Given the description of an element on the screen output the (x, y) to click on. 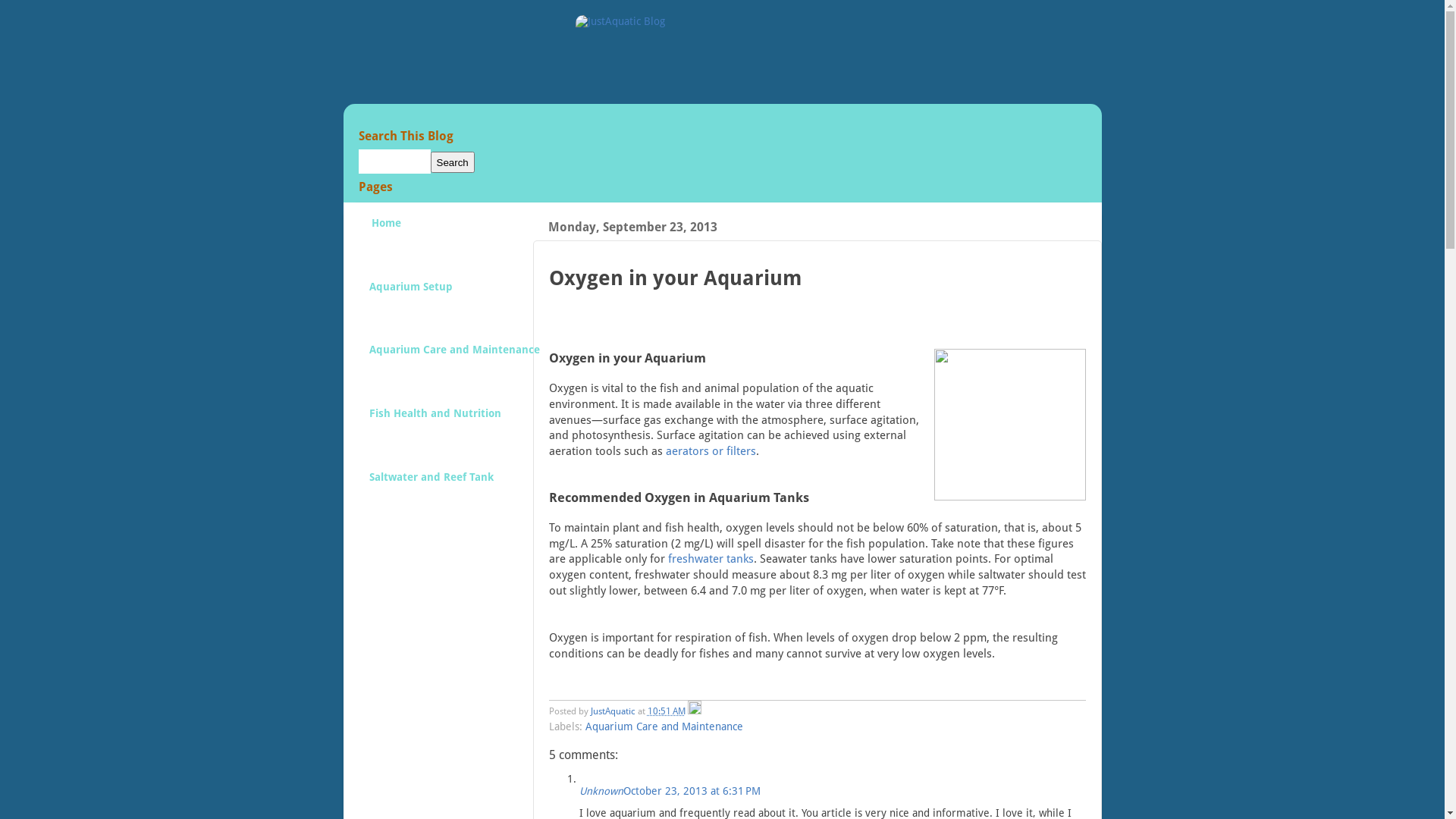
Saltwater and Reef Tank Element type: text (430, 489)
Aquarium Care and Maintenance Element type: text (664, 726)
Fish Health and Nutrition Element type: text (434, 426)
JustAquatic Element type: text (613, 711)
Home Element type: text (384, 236)
search Element type: hover (452, 161)
Edit Post Element type: hover (693, 710)
search Element type: hover (393, 161)
freshwater tanks Element type: text (710, 558)
Unknown Element type: text (601, 790)
aerators or filters Element type: text (710, 451)
Aquarium Setup Element type: text (410, 299)
Aquarium Care and Maintenance Element type: text (453, 363)
Search Element type: text (452, 161)
